Given the description of an element on the screen output the (x, y) to click on. 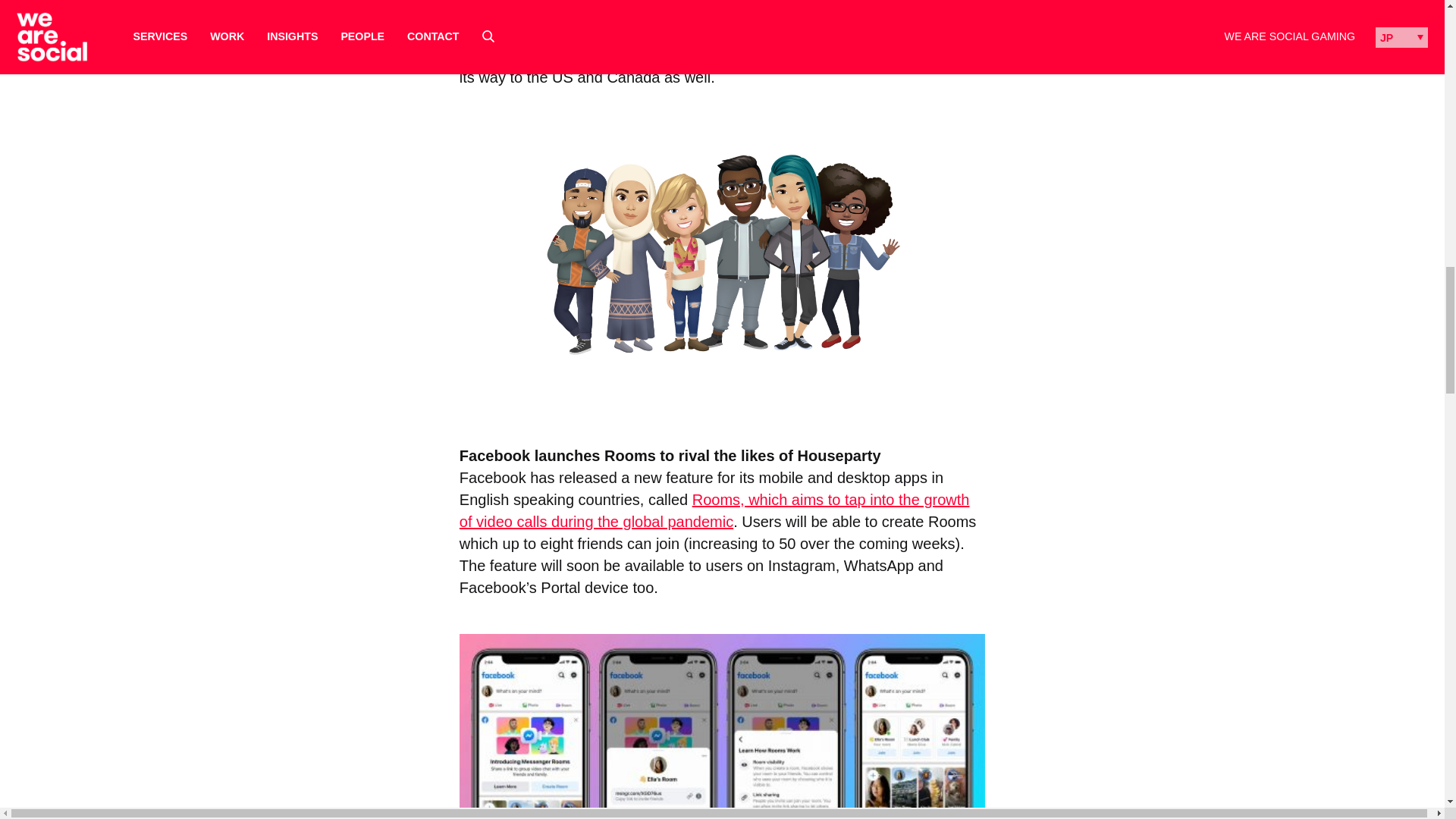
officially launched Facebook Avatars in Europe (699, 9)
